Given the description of an element on the screen output the (x, y) to click on. 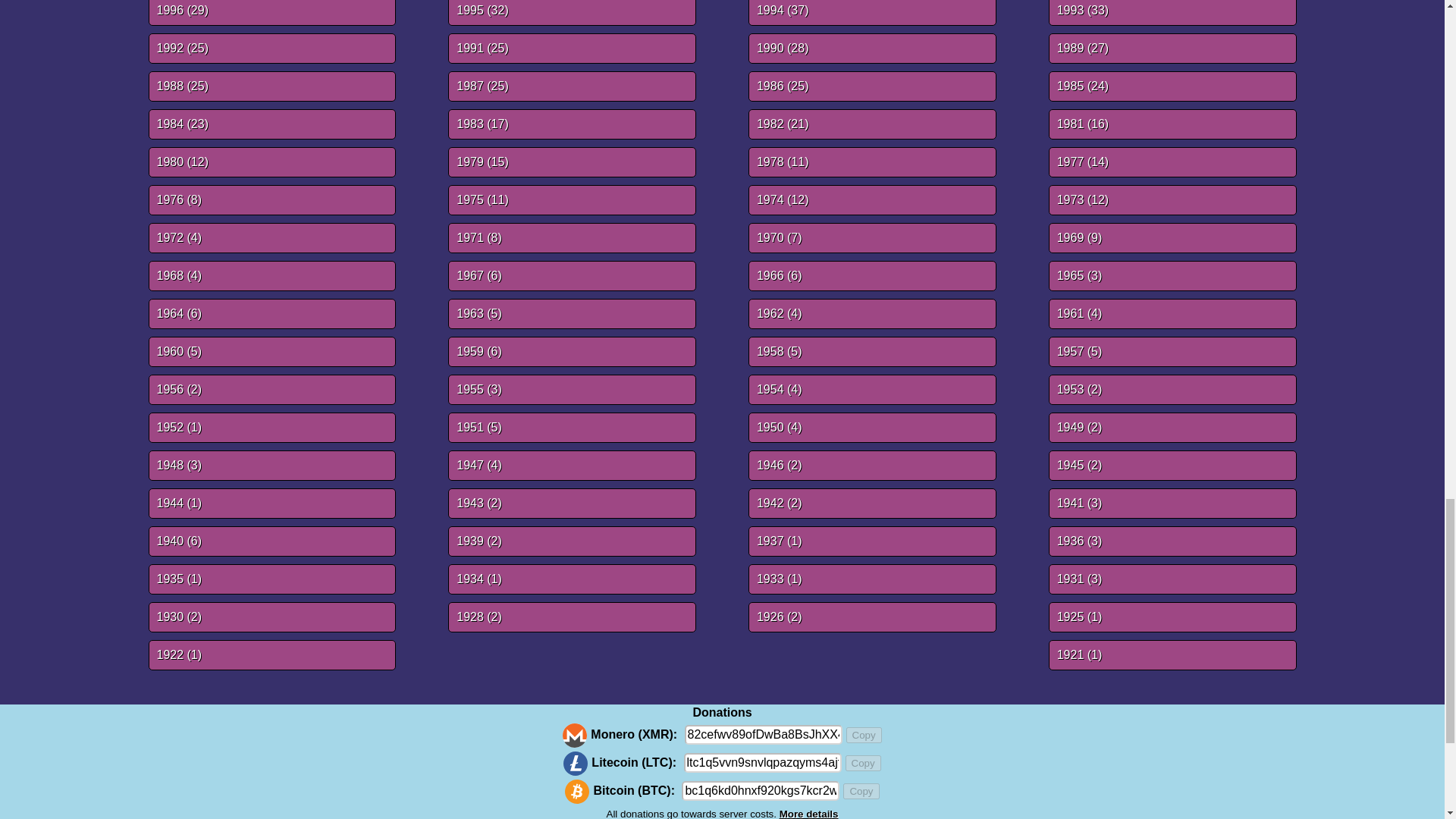
bc1q6kd0hnxf920kgs7kcr2welzxru0cm7j4y2cla5 (760, 790)
ltc1q5vvn9snvlqpazqyms4ajt0hfyknjsw52662nwg (762, 762)
